Given the description of an element on the screen output the (x, y) to click on. 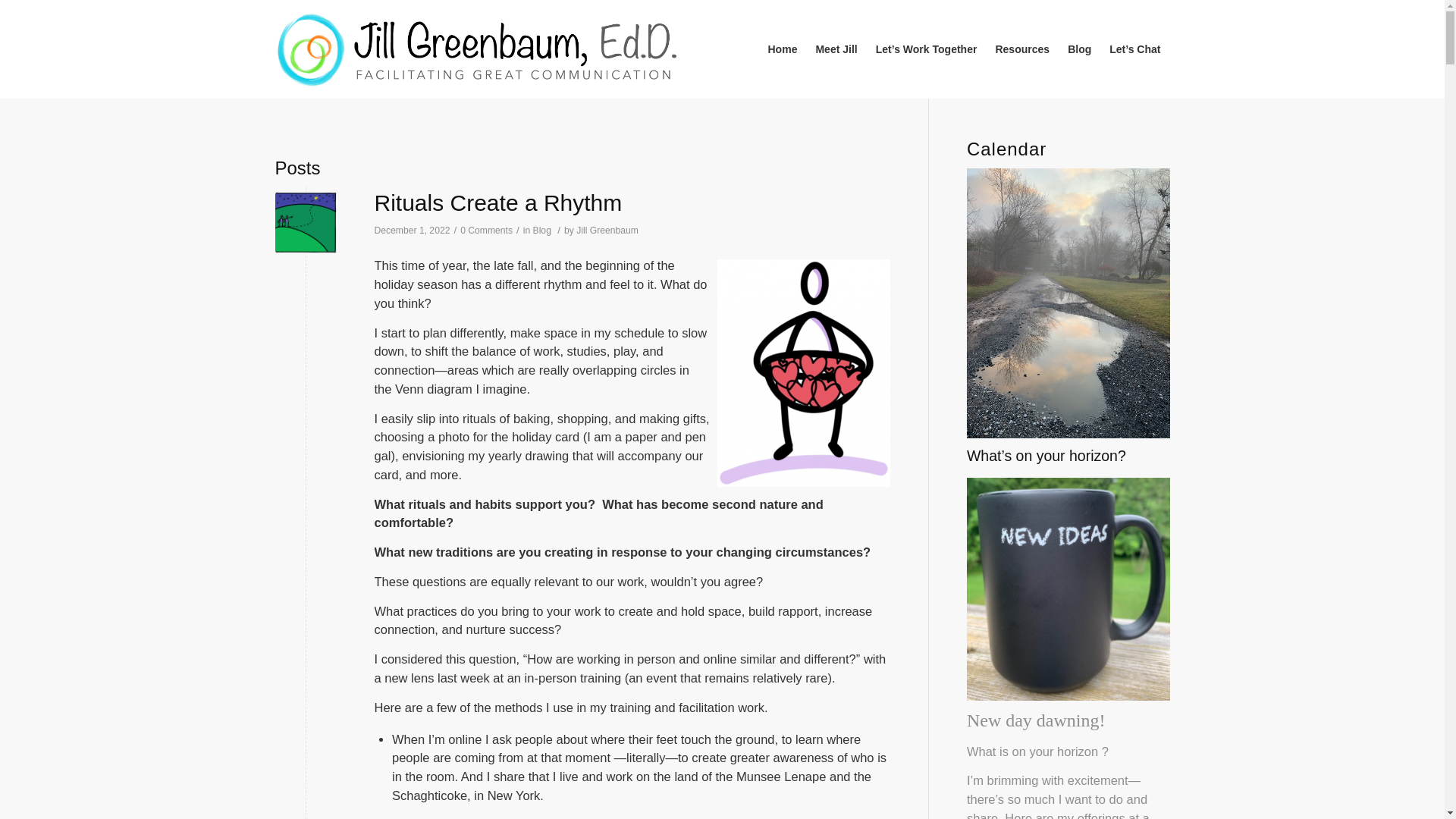
Posts by Jill Greenbaum (607, 230)
Permanent Link: Rituals Create a Rhythm (498, 202)
Rituals Create a Rhythm (498, 202)
Blog (541, 230)
Rituals Create a Rhythm (305, 222)
0 Comments (486, 230)
Jill Greenbaum (607, 230)
